Given the description of an element on the screen output the (x, y) to click on. 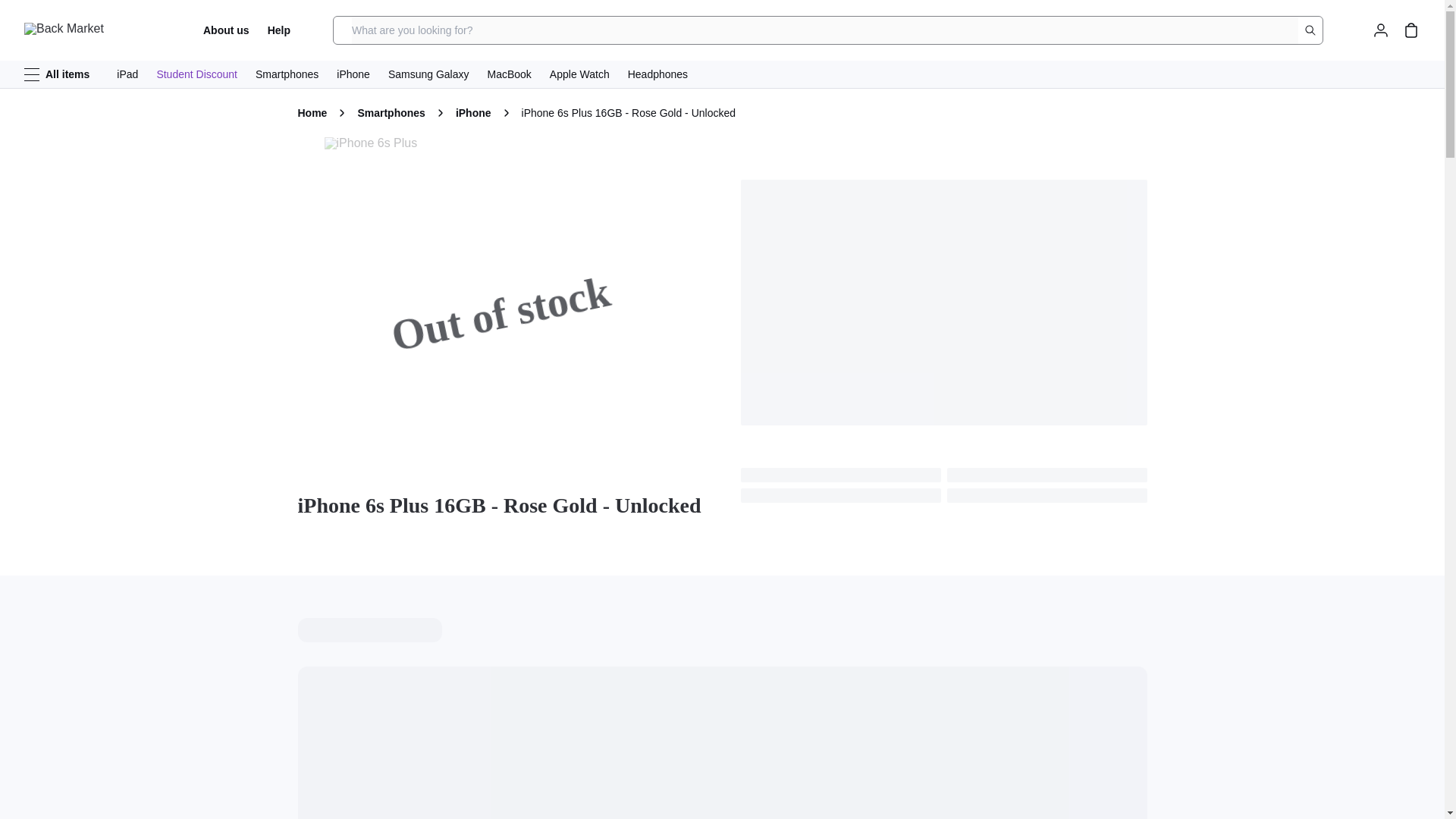
Smartphones (390, 113)
Samsung Galaxy (428, 74)
All items (56, 73)
About us (225, 30)
Smartphones (286, 74)
Home (311, 113)
iPhone (352, 74)
Student Discount (196, 74)
iPhone (473, 113)
iPad (127, 74)
Apple Watch (579, 74)
Headphones (657, 74)
Help (278, 30)
MacBook (508, 74)
